Given the description of an element on the screen output the (x, y) to click on. 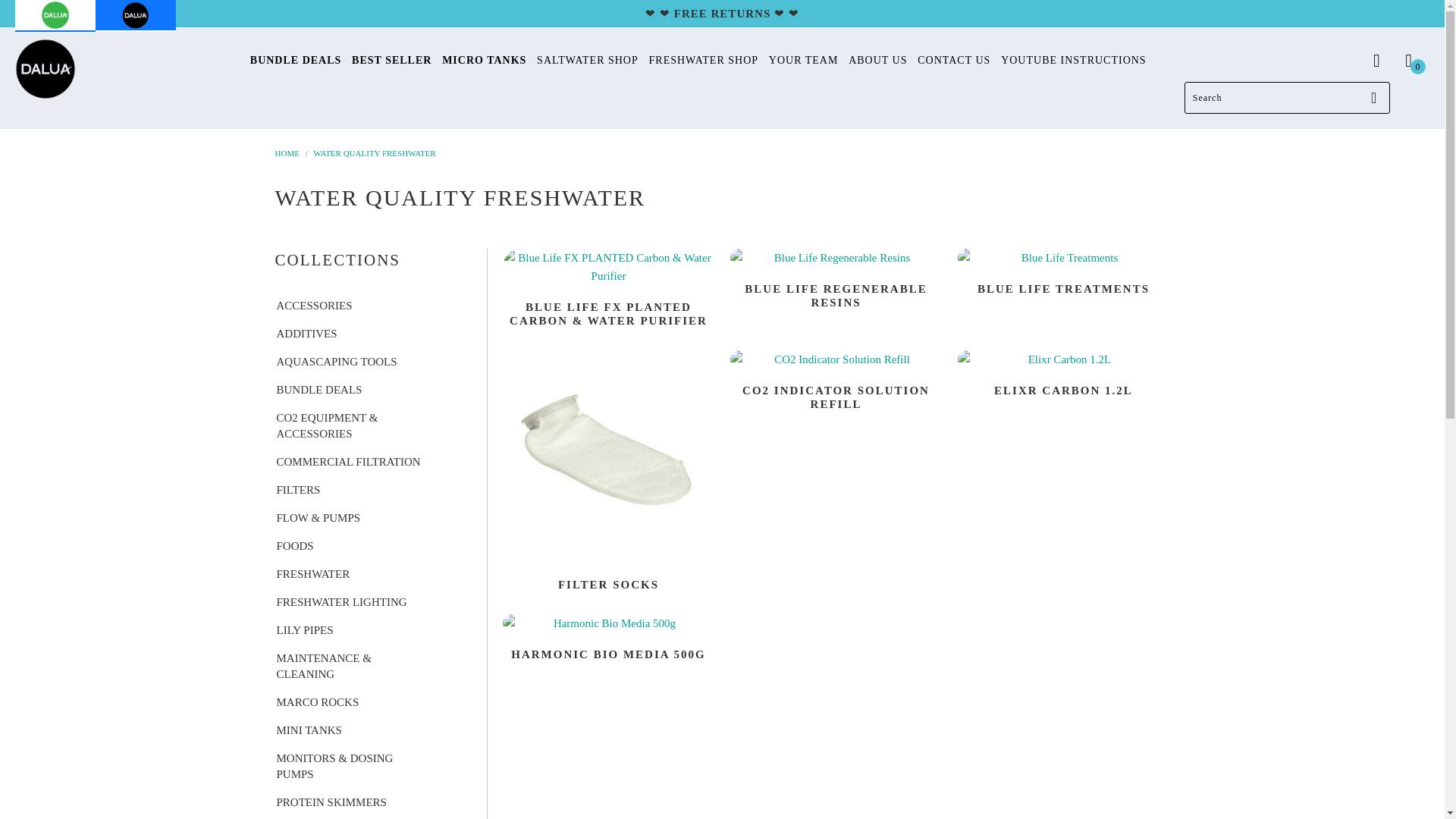
WATER QUALITY FRESHWATER (374, 153)
FILTERS (297, 489)
SALTWATER SHOP (588, 60)
COMMERCIAL FILTRATION (347, 461)
BUNDLE DEALS (318, 390)
FOODS (294, 546)
FRESHWATER LIGHTING (340, 602)
BUNDLE DEALS (296, 60)
AQUASCAPING TOOLS (335, 360)
HOME (286, 153)
